Given the description of an element on the screen output the (x, y) to click on. 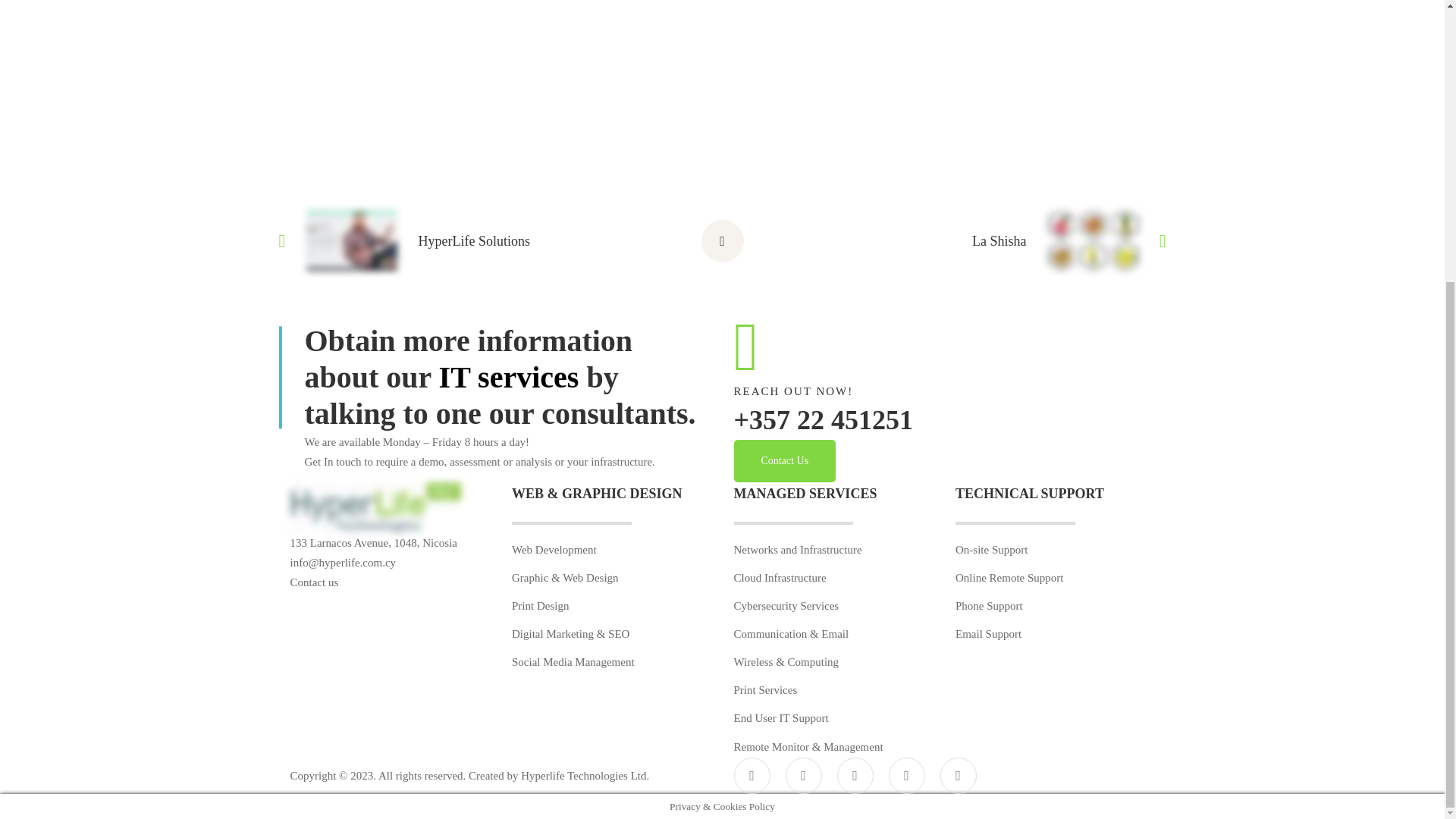
La Shisha (1003, 240)
HyperLife Solutions (442, 240)
